Given the description of an element on the screen output the (x, y) to click on. 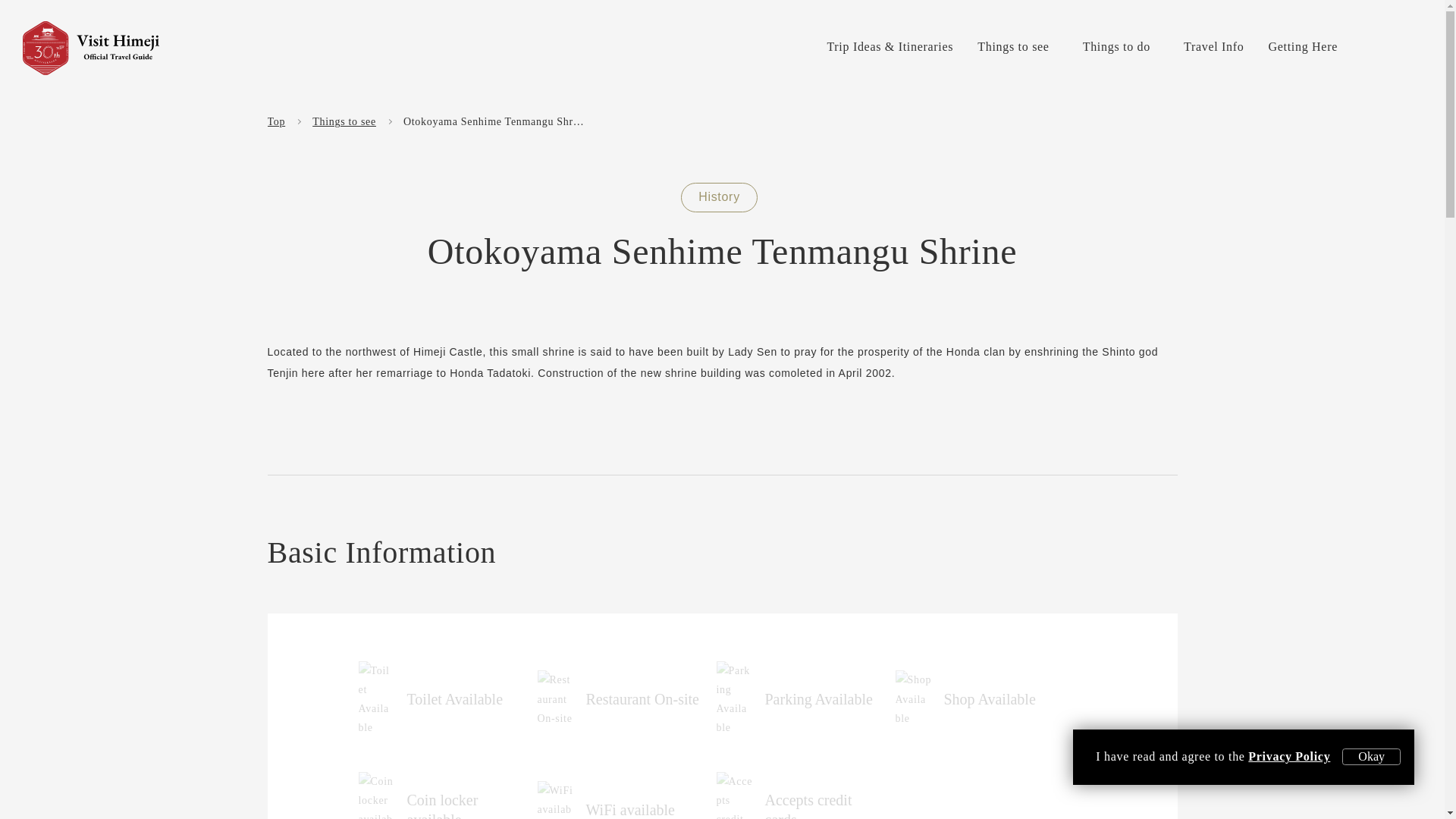
Travel Info (1213, 46)
Getting Here (1303, 46)
Okay (1371, 756)
Privacy Policy (1288, 756)
search-send (1416, 119)
